Given the description of an element on the screen output the (x, y) to click on. 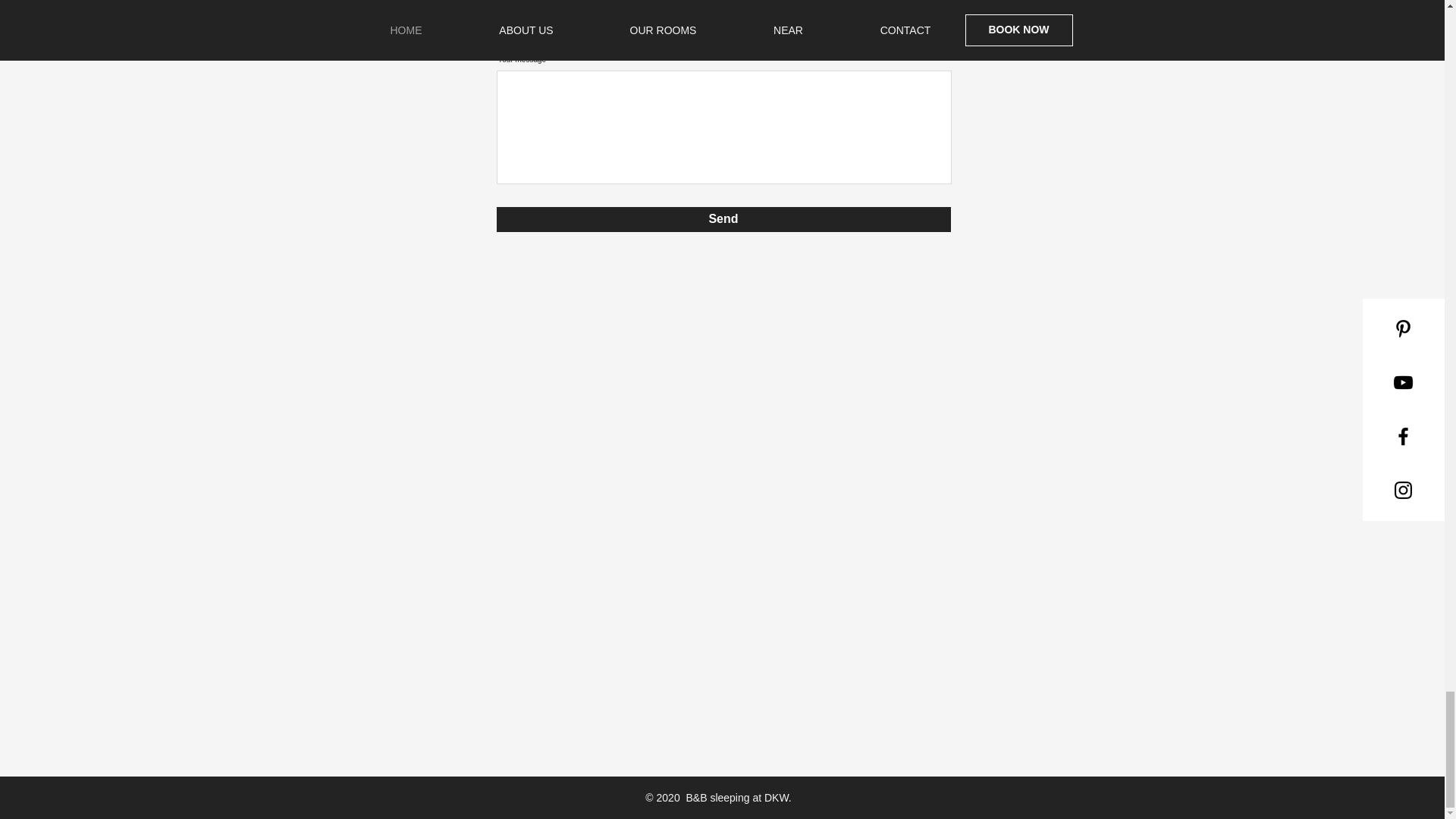
Send (723, 219)
